Given the description of an element on the screen output the (x, y) to click on. 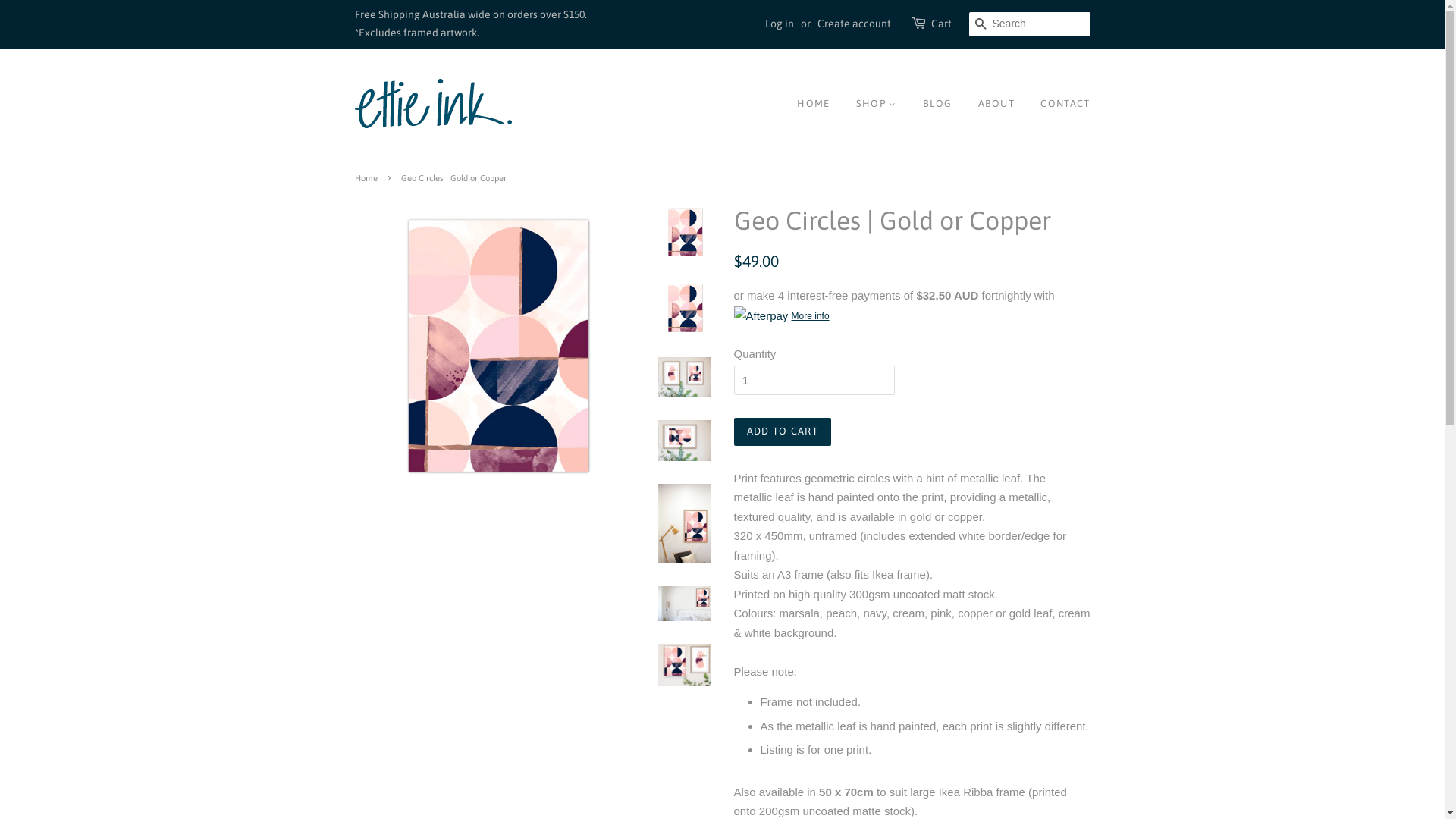
Log in Element type: text (778, 23)
HOME Element type: text (818, 103)
ADD TO CART Element type: text (782, 431)
BLOG Element type: text (937, 103)
Create account Element type: text (854, 23)
ABOUT Element type: text (996, 103)
SEARCH Element type: text (981, 24)
Cart Element type: text (941, 24)
SHOP Element type: text (876, 103)
Home Element type: text (367, 177)
More info Element type: text (781, 315)
CONTACT Element type: text (1059, 103)
